Given the description of an element on the screen output the (x, y) to click on. 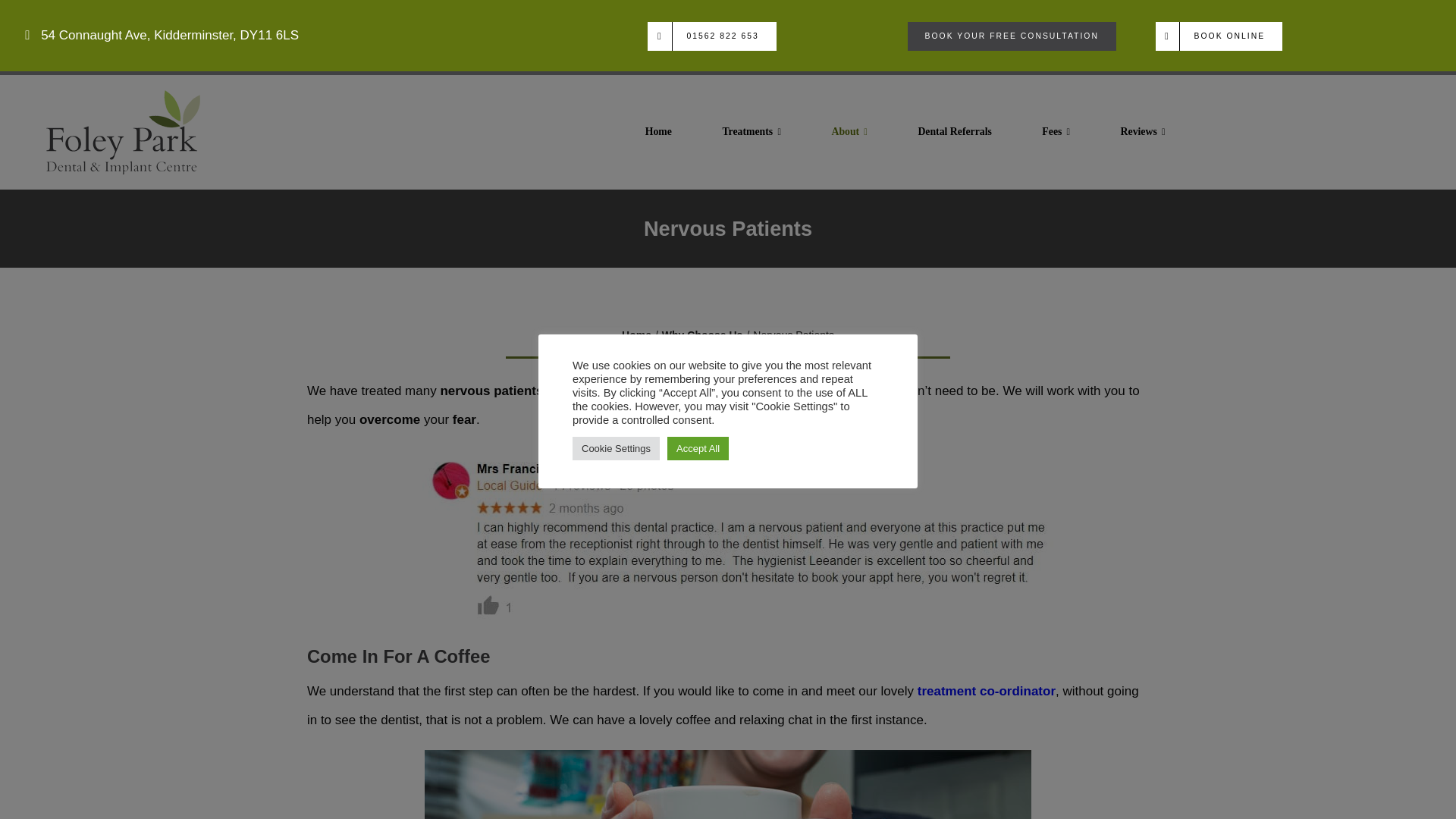
BOOK ONLINE (1219, 36)
BOOK YOUR FREE CONSULTATION (1011, 36)
01562 822 653 (711, 36)
Treatments (751, 132)
